Given the description of an element on the screen output the (x, y) to click on. 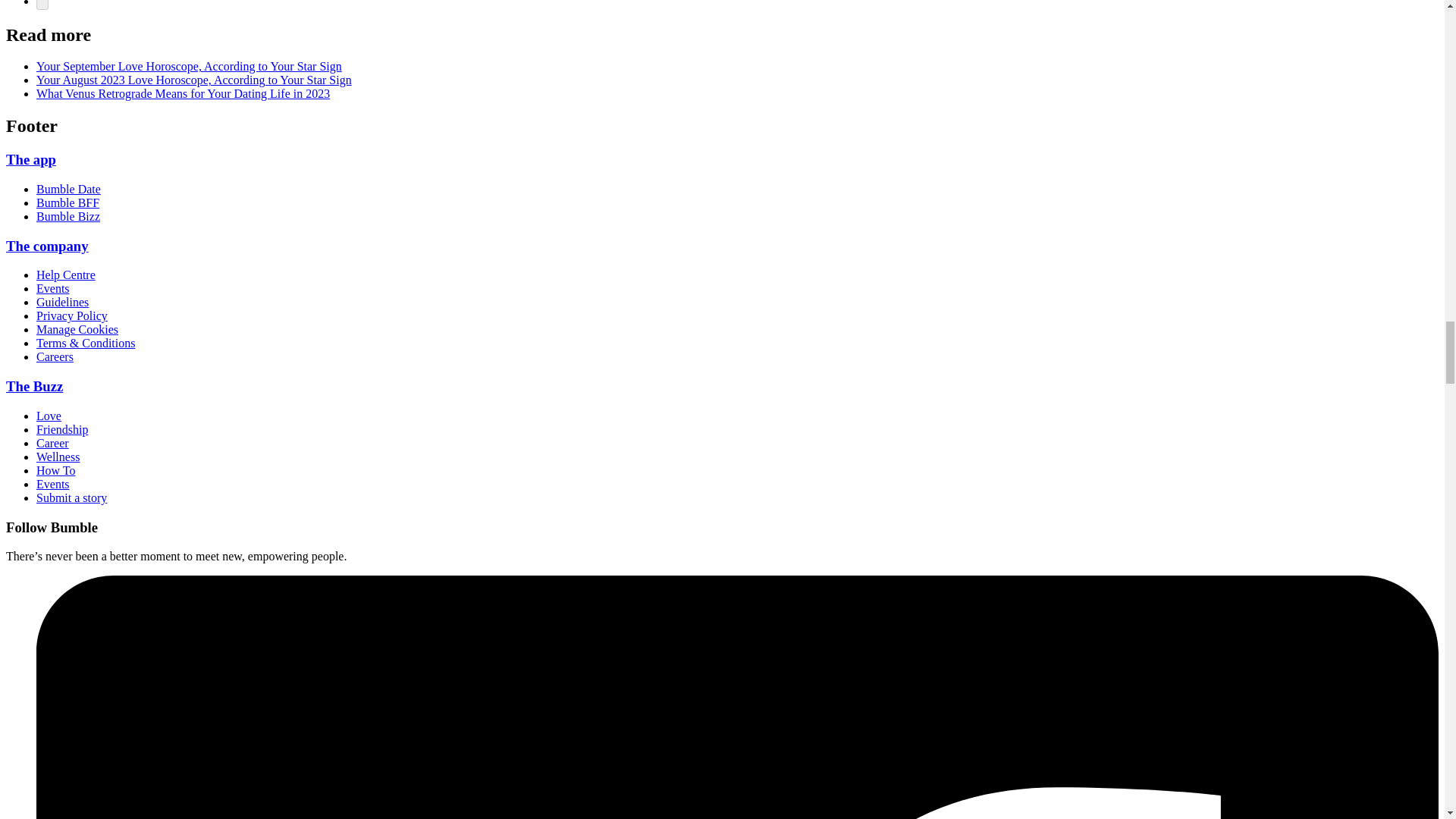
Friendship (61, 429)
Wellness (58, 456)
Bumble Date (68, 188)
Guidelines (62, 301)
Manage Cookies (76, 328)
Bumble BFF (67, 202)
Events (52, 287)
Help Centre (66, 274)
Events (52, 483)
Bumble Date (68, 188)
Events (52, 287)
Love (48, 415)
The app (30, 159)
How To (55, 470)
Bumble Bizz (68, 215)
